Given the description of an element on the screen output the (x, y) to click on. 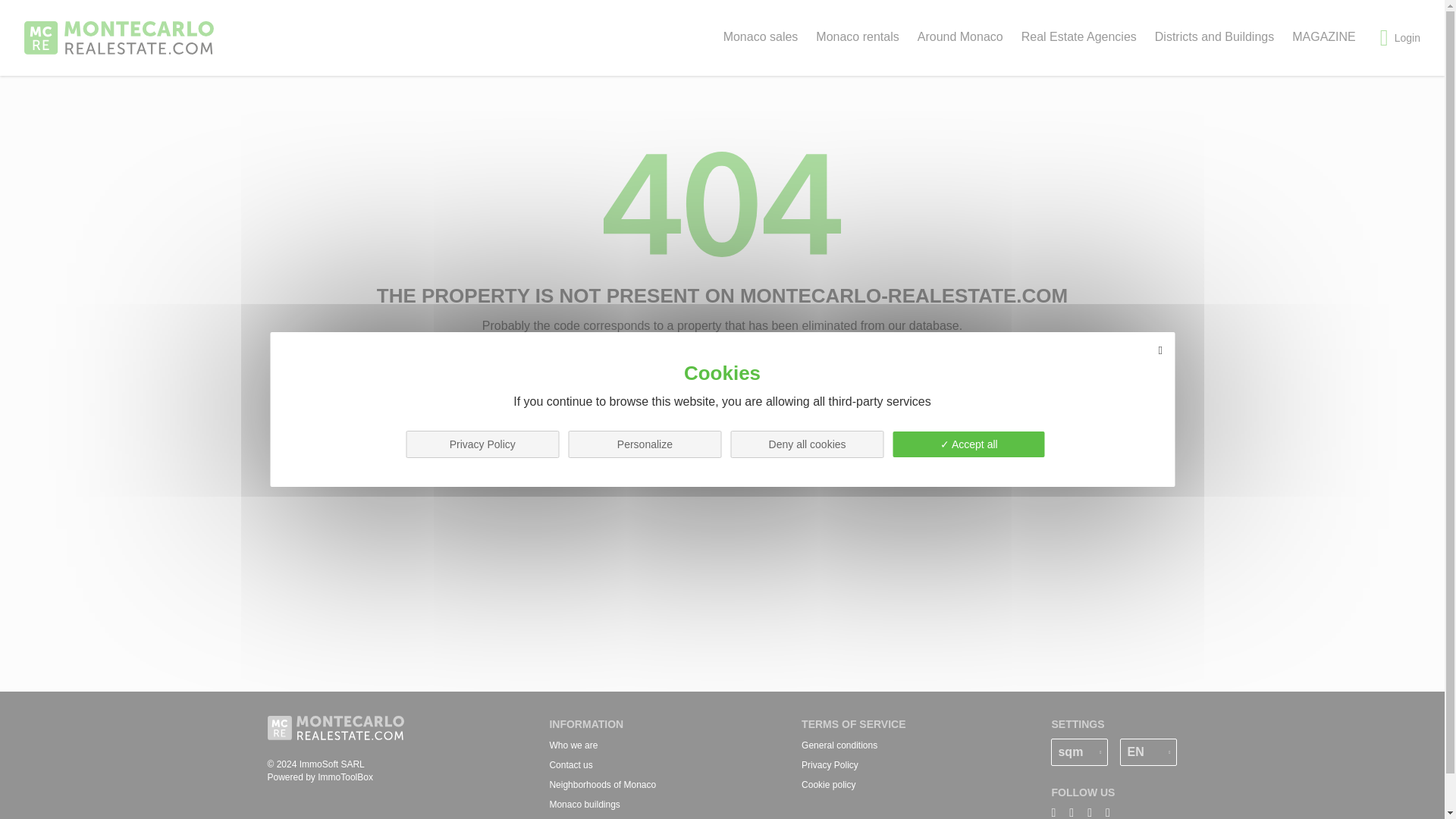
Powered by ImmoToolBox (334, 777)
Monaco sales (760, 36)
START NEW SEARCH (722, 370)
MAGAZINE (1323, 36)
MonteCarlo (119, 37)
Monaco buildings (584, 804)
Around Monaco (960, 36)
Login (1400, 37)
Privacy Policy (830, 765)
Contact us (570, 765)
